Given the description of an element on the screen output the (x, y) to click on. 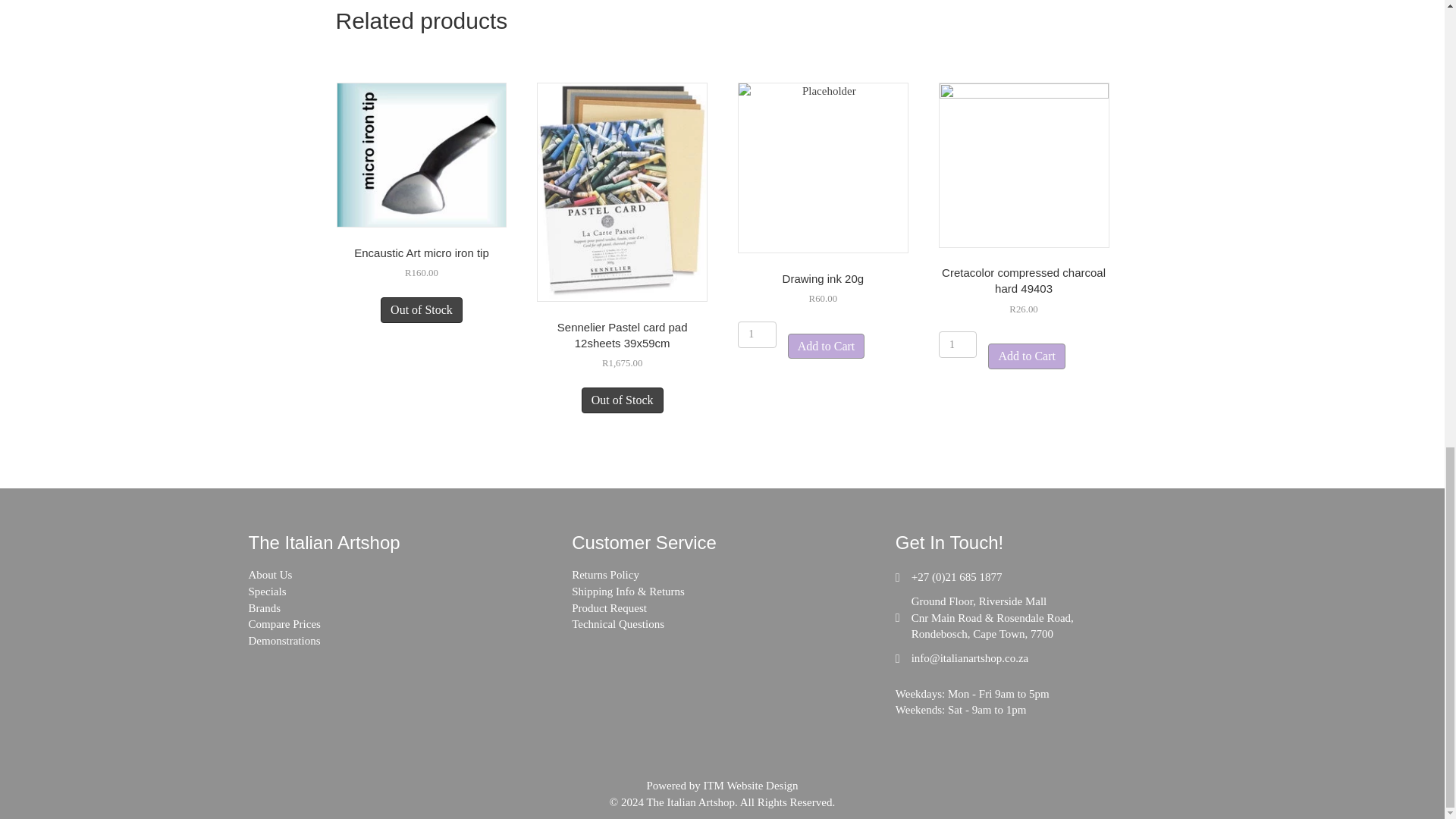
1 (957, 344)
ITM Website Design (750, 785)
1 (757, 334)
